Given the description of an element on the screen output the (x, y) to click on. 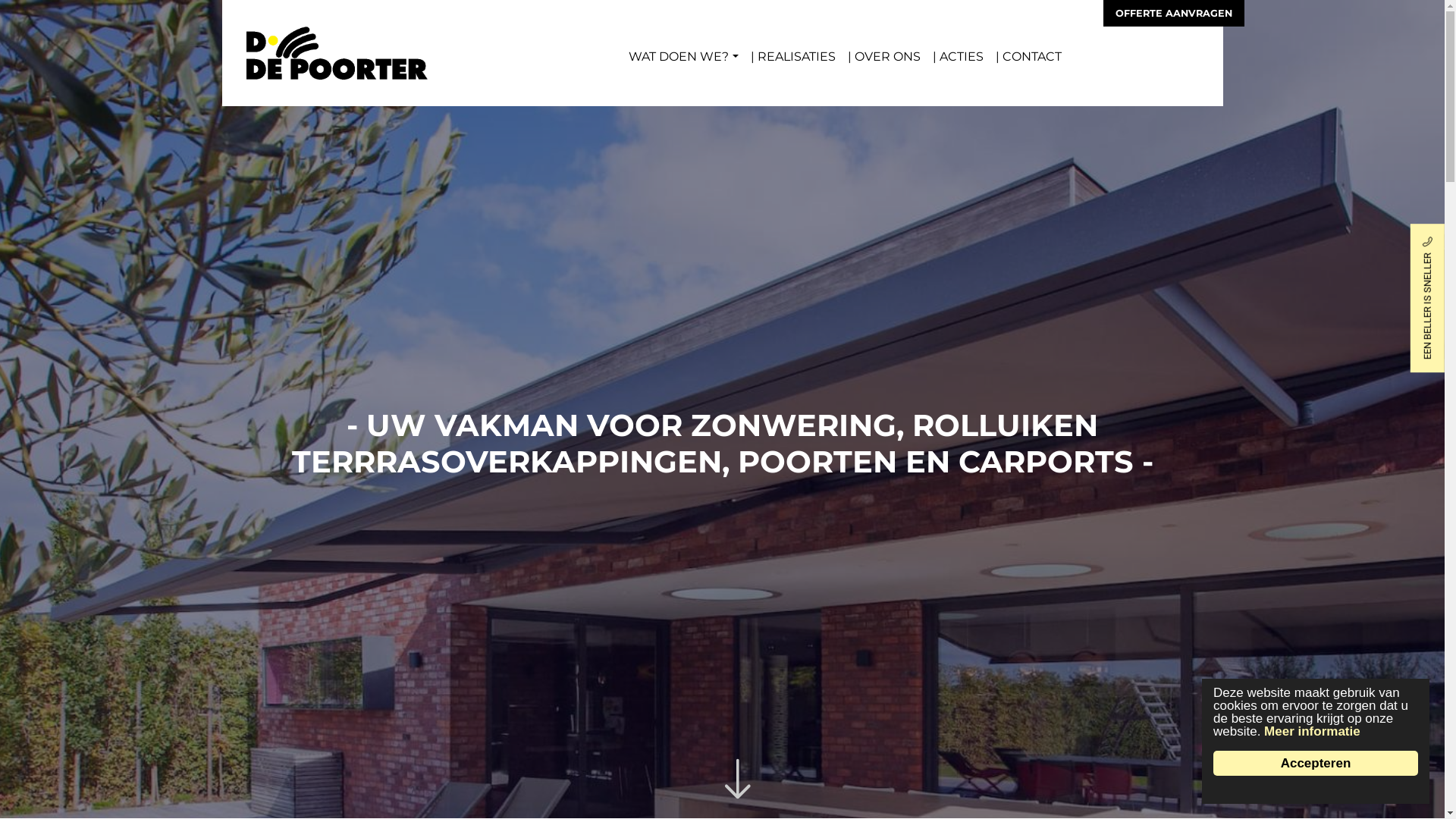
Meer informatie Element type: text (1312, 731)
| OVER ONS Element type: text (883, 56)
Accepteren Element type: text (1315, 762)
| ACTIES Element type: text (957, 56)
| REALISATIES Element type: text (792, 56)
OFFERTE AANVRAGEN Element type: text (1172, 13)
| CONTACT Element type: text (1028, 56)
Home Element type: hover (328, 37)
WAT DOEN WE? Element type: text (682, 56)
